Given the description of an element on the screen output the (x, y) to click on. 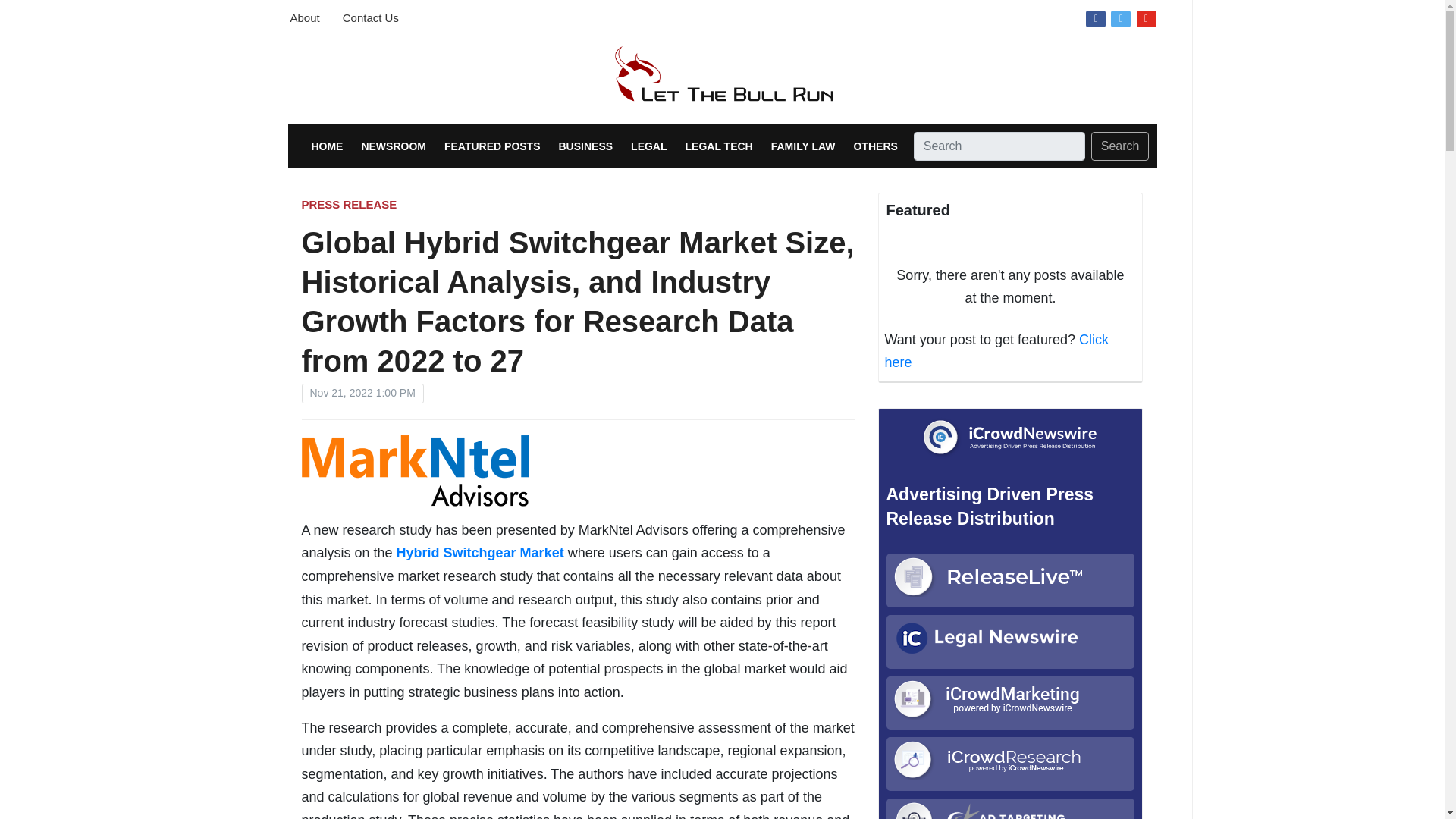
Twitter (1120, 17)
Search (1120, 145)
Contact Us (370, 15)
About (303, 15)
FAMILY LAW (803, 146)
BUSINESS (584, 146)
LEGAL (648, 146)
OTHERS (875, 146)
HOME (326, 146)
PRESS RELEASE (349, 204)
Facebook (1095, 17)
Hybrid Switchgear Market (480, 552)
FEATURED POSTS (492, 146)
Youtube (1146, 17)
NEWSROOM (393, 146)
